Given the description of an element on the screen output the (x, y) to click on. 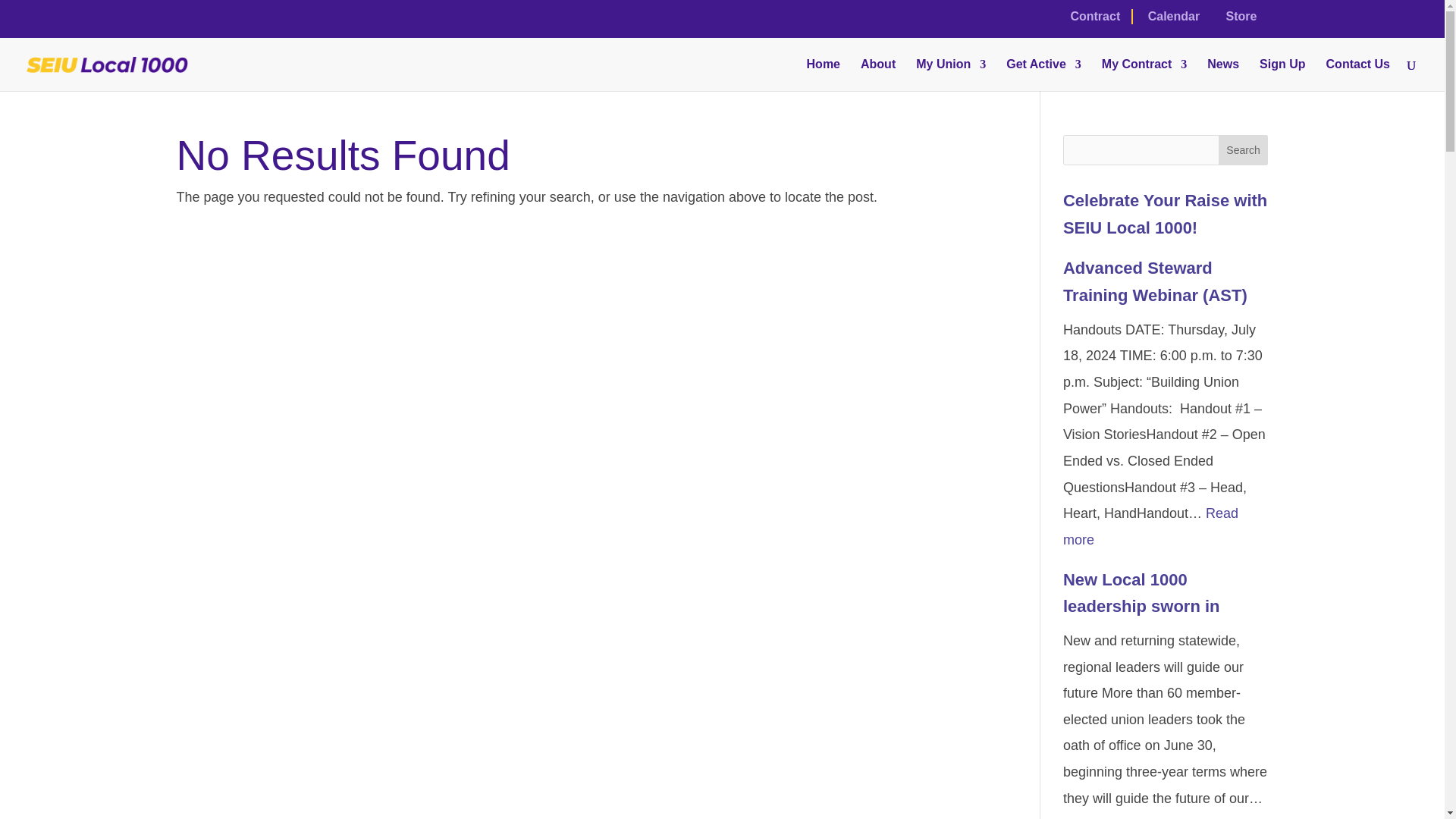
My Contract (1144, 74)
Sign Up (1281, 74)
Calendar (1173, 20)
Contract (1094, 21)
Store (1241, 20)
Get Active (1043, 74)
About (877, 74)
My Union (950, 74)
News (1223, 74)
Home (823, 74)
